Given the description of an element on the screen output the (x, y) to click on. 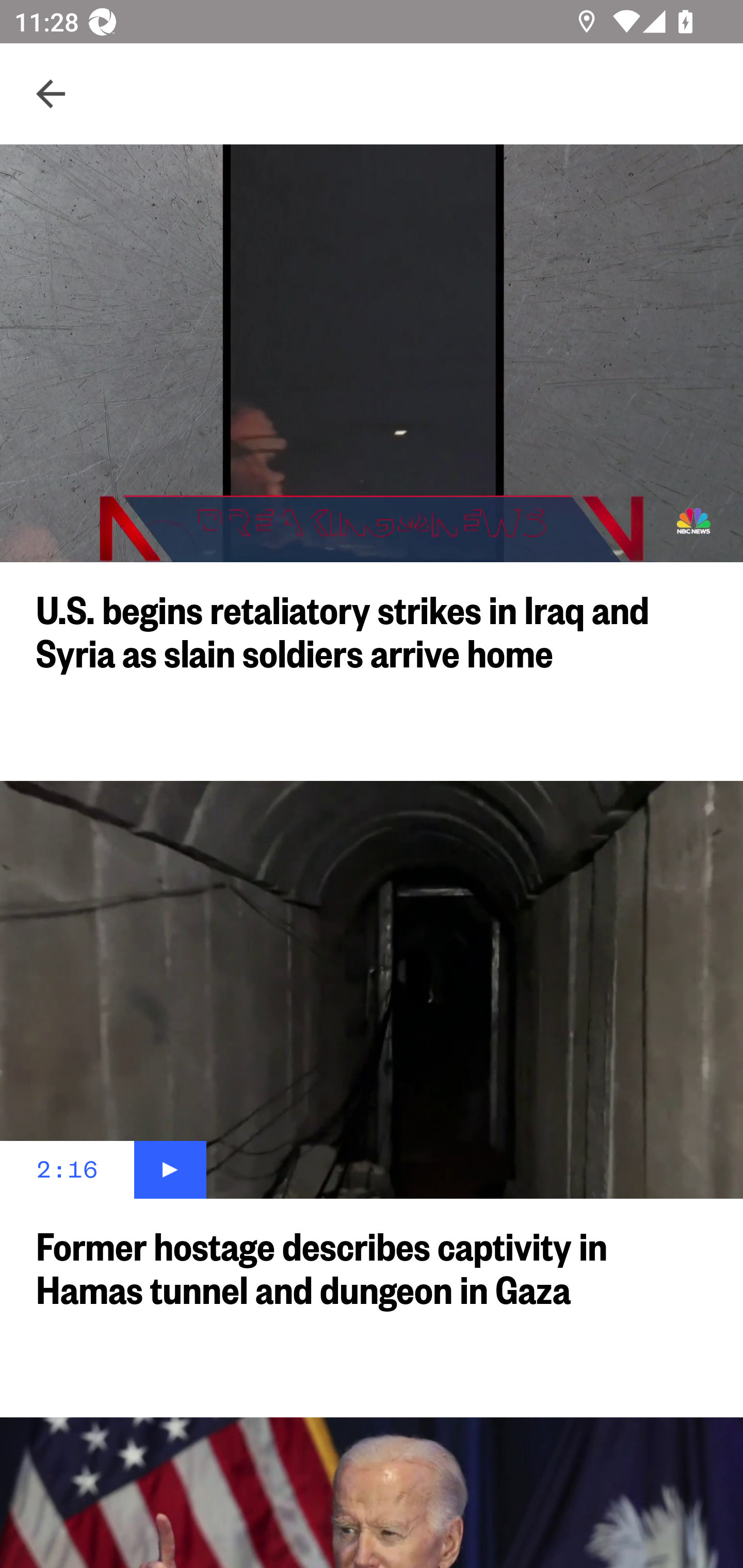
Navigate up (50, 93)
